Given the description of an element on the screen output the (x, y) to click on. 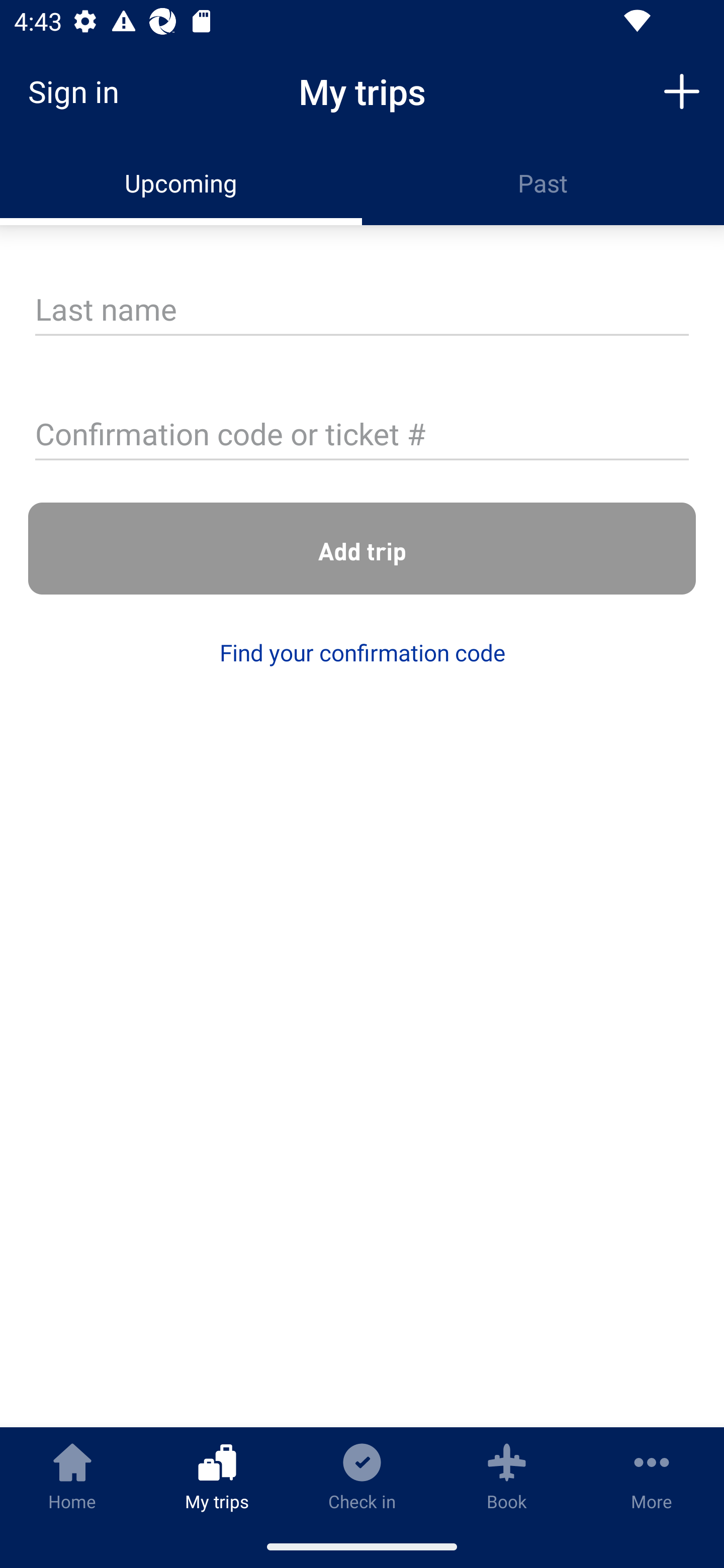
Sign in (80, 91)
Add trip (681, 90)
Past (543, 183)
Last name (361, 310)
Confirmation code or ticket # (361, 435)
Add trip (361, 548)
Home (72, 1475)
Check in (361, 1475)
Book (506, 1475)
More (651, 1475)
